Given the description of an element on the screen output the (x, y) to click on. 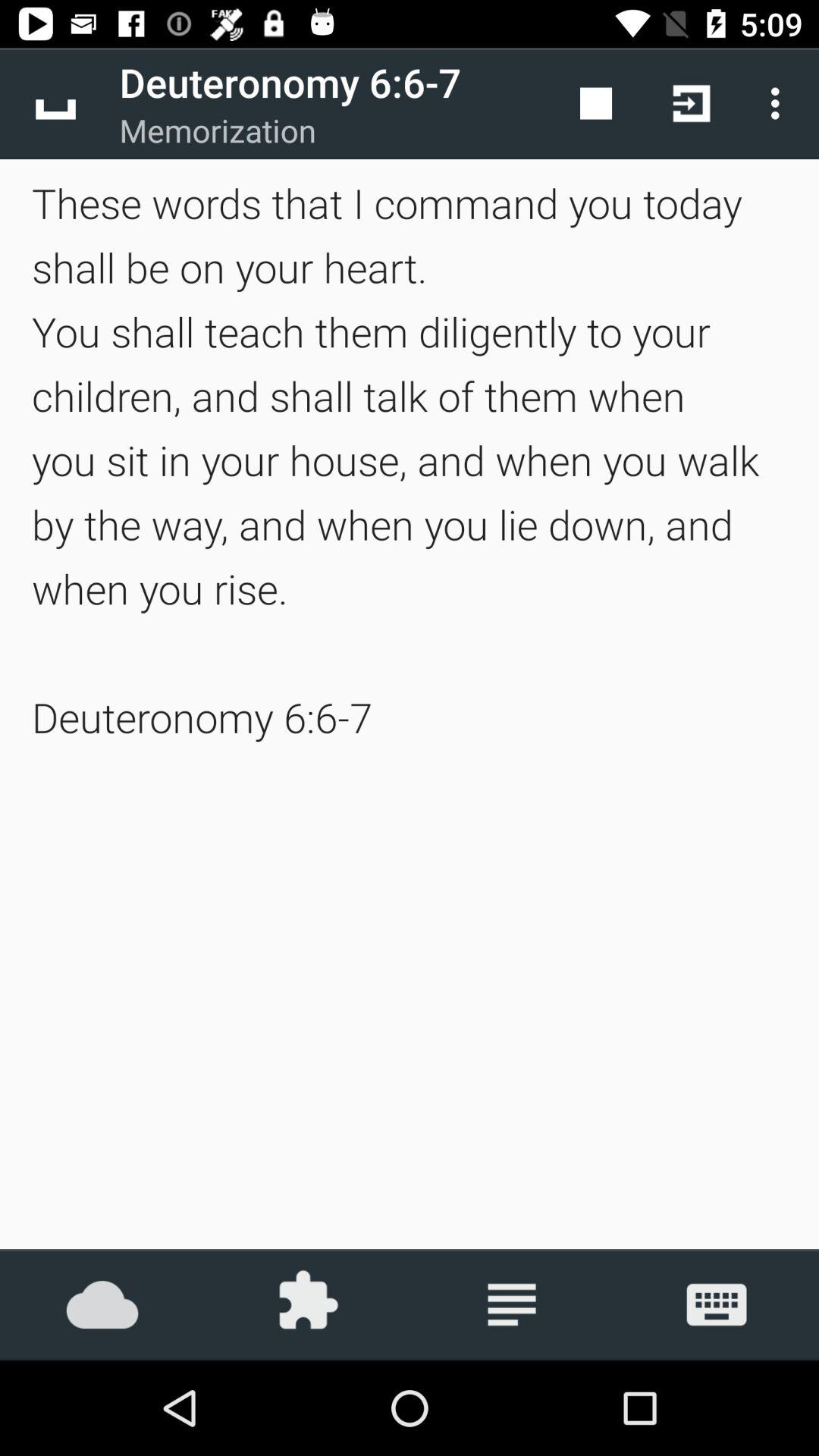
launch item to the right of deuteronomy 6 6 (595, 103)
